Given the description of an element on the screen output the (x, y) to click on. 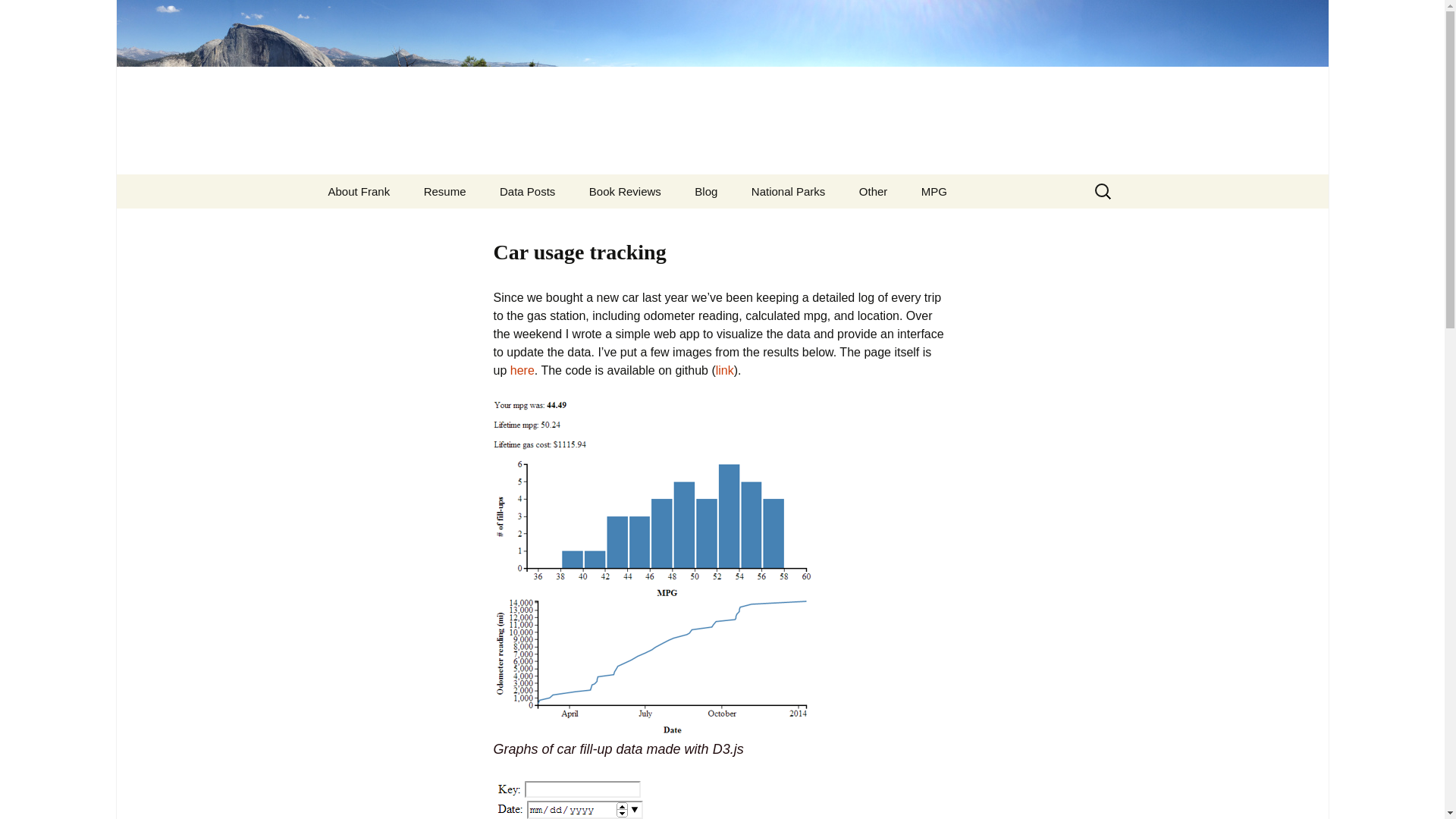
Resume (445, 191)
National Parks (788, 191)
Other (873, 191)
Blog (705, 191)
About Frank (358, 191)
Book Reviews (625, 191)
Data Posts (527, 191)
Book Reviews (625, 191)
